Given the description of an element on the screen output the (x, y) to click on. 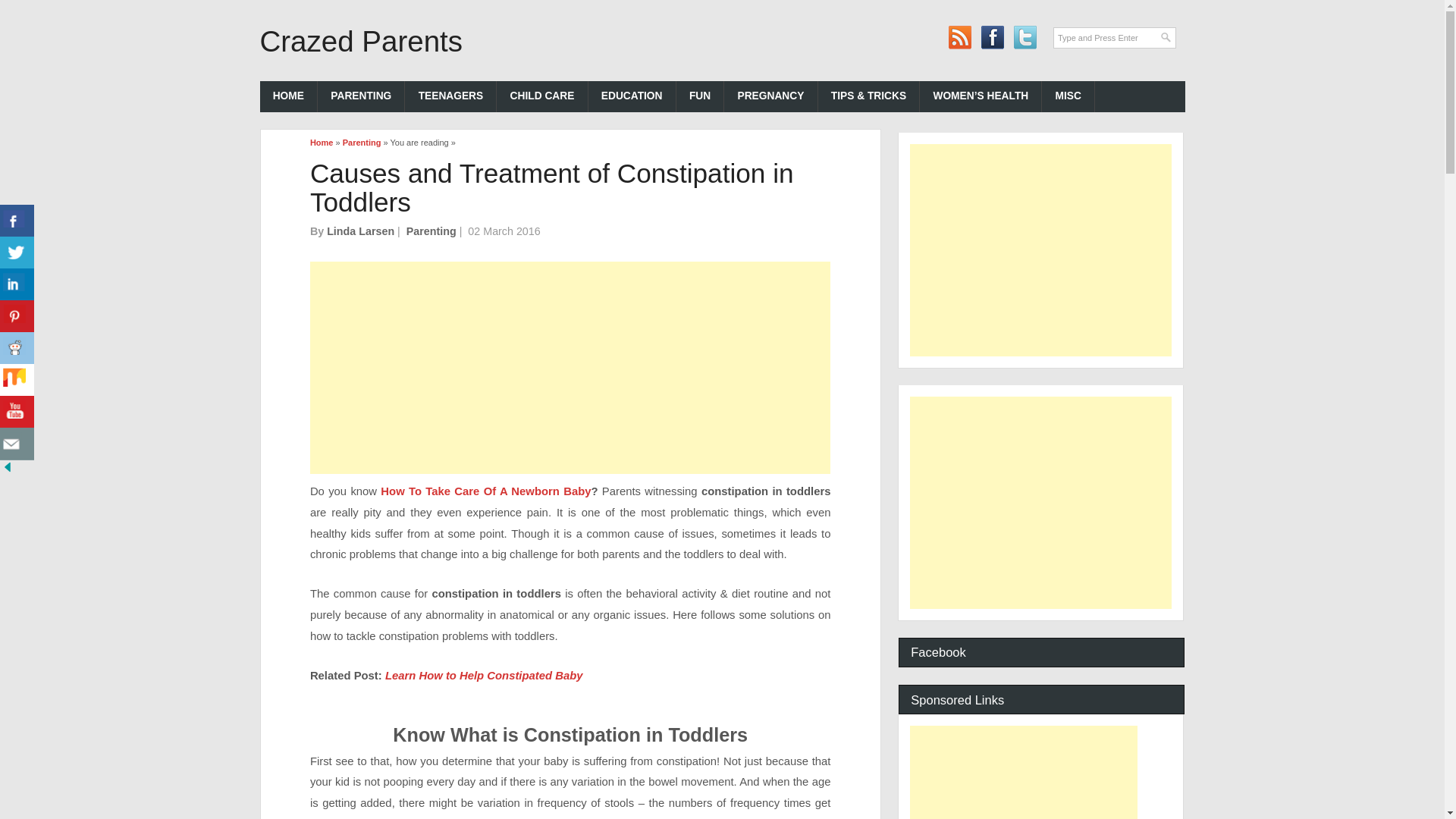
PREGNANCY (769, 96)
Advertisement (570, 367)
Learn How to Help Constipated Baby (484, 675)
Subscribe to rss feed (960, 37)
Crazed Parents (361, 41)
HOME (288, 96)
EDUCATION (632, 96)
Crazed Parents (361, 41)
TEENAGERS (450, 96)
CHILD CARE (542, 96)
